Given the description of an element on the screen output the (x, y) to click on. 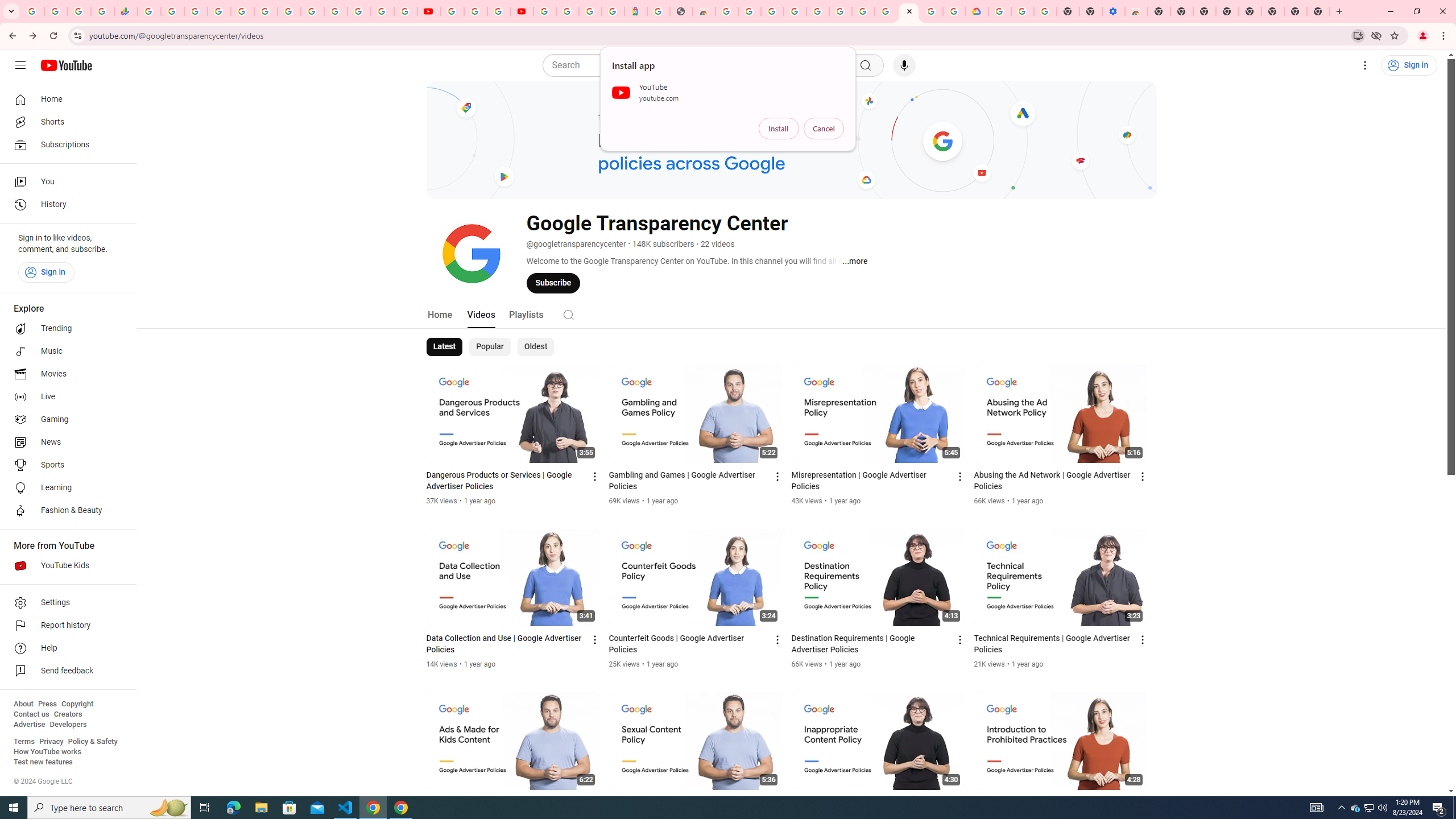
Content Creator Programs & Opportunities - YouTube Creators (521, 11)
